Given the description of an element on the screen output the (x, y) to click on. 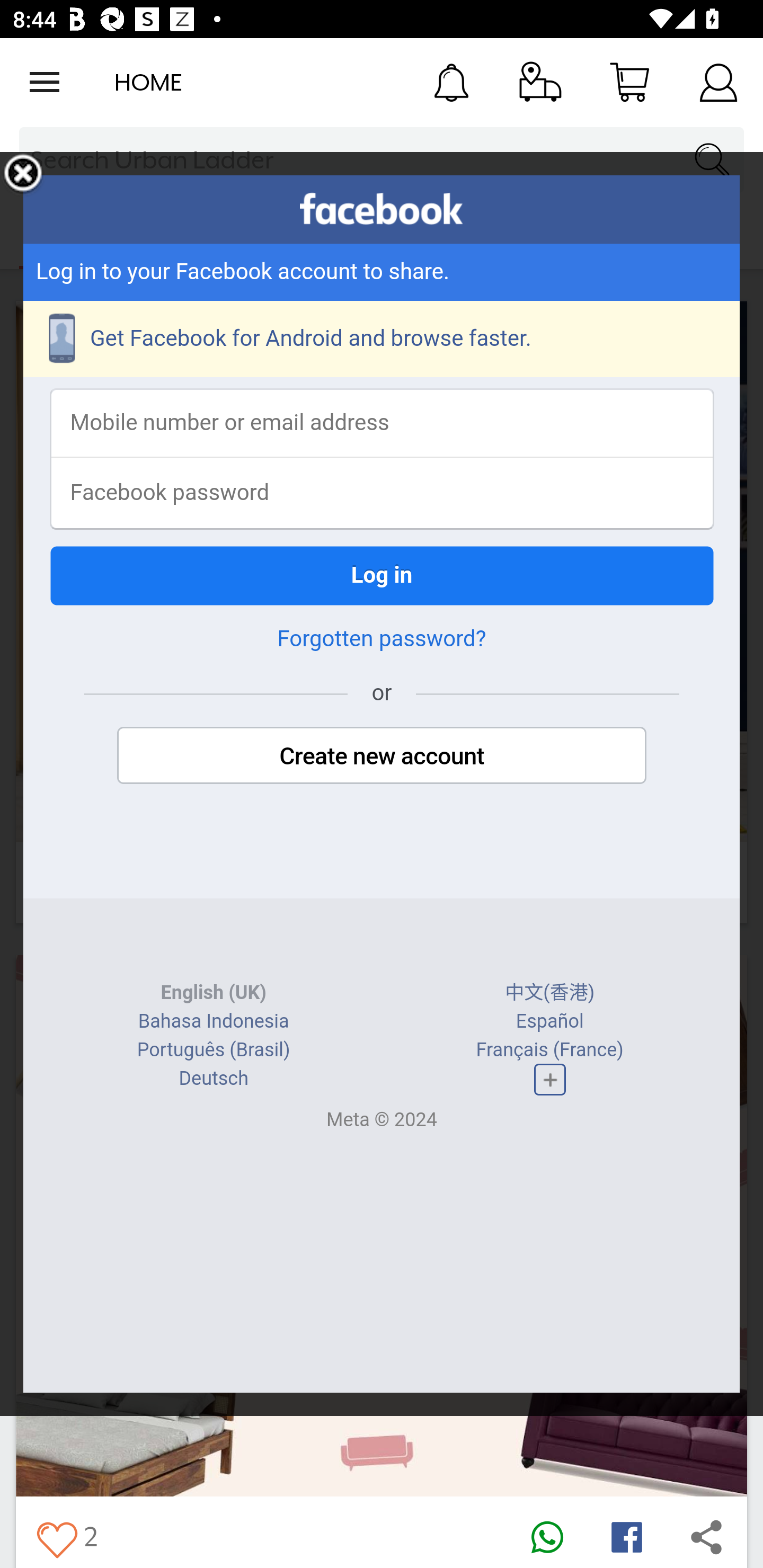
facebook (381, 208)
Get Facebook for Android and browse faster. (381, 339)
Log in (381, 575)
Forgotten password? (381, 638)
Create new account (381, 755)
中文(香港) (550, 993)
Bahasa Indonesia (214, 1021)
Español (549, 1021)
Português (Brasil) (212, 1049)
Français (France) (549, 1049)
Complete list of languages (548, 1079)
Deutsch (212, 1078)
